Given the description of an element on the screen output the (x, y) to click on. 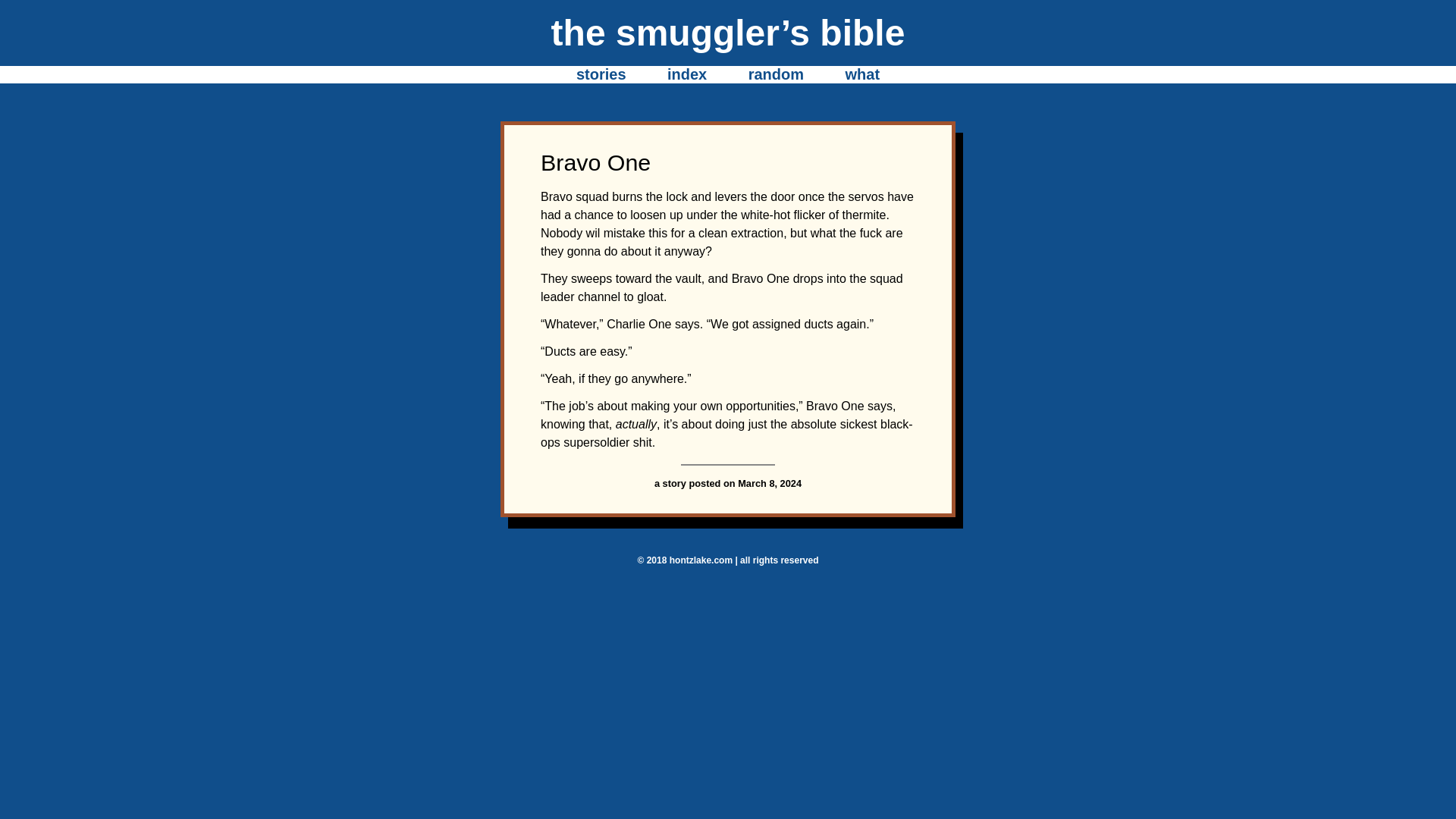
stories (601, 74)
Bravo One (595, 162)
index (686, 74)
what (861, 74)
random (775, 74)
